Given the description of an element on the screen output the (x, y) to click on. 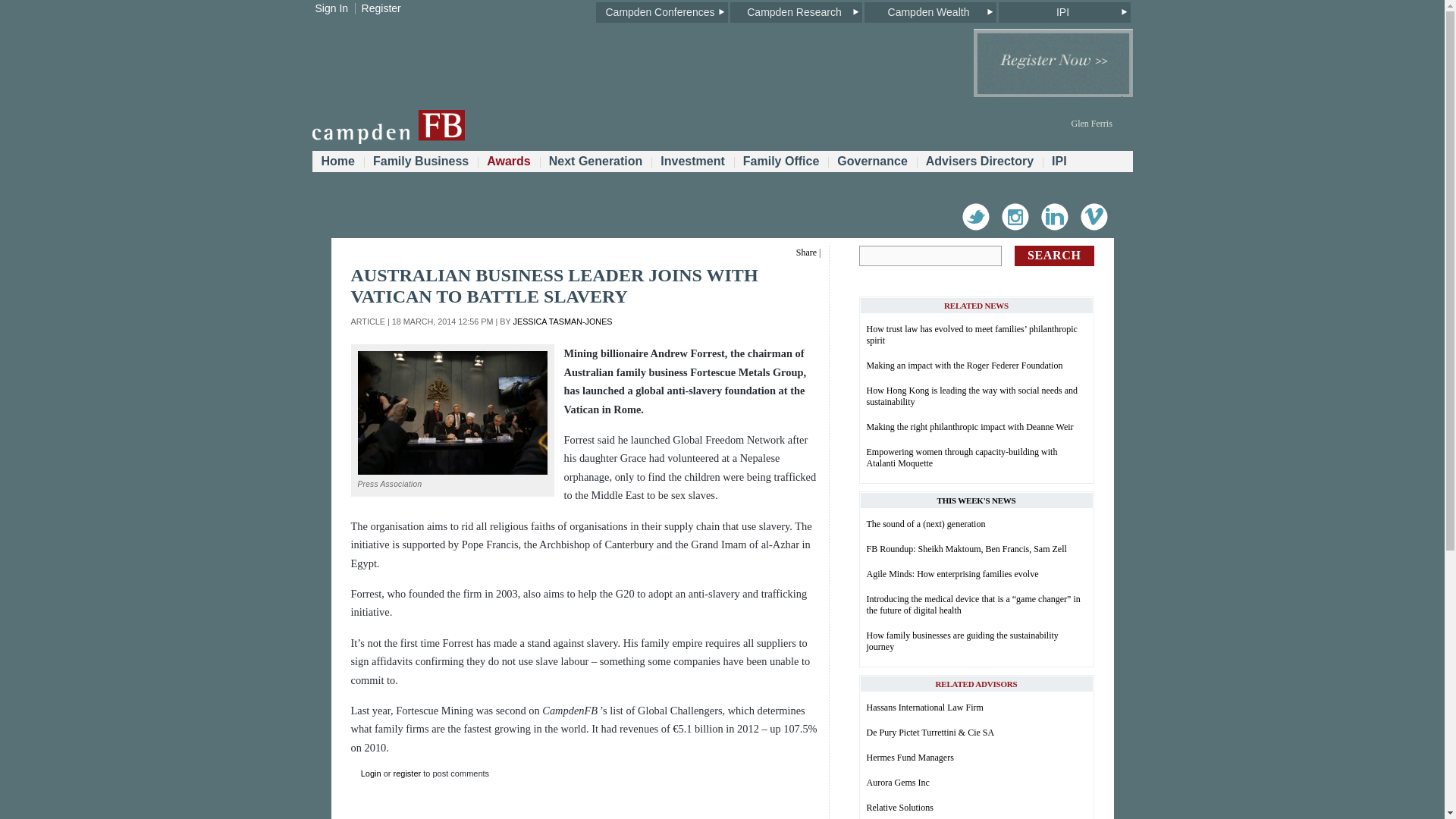
Register (381, 8)
Campden Conferences (661, 12)
Next Generation (596, 160)
Awards (508, 160)
Family Business (420, 160)
search (1054, 255)
Campden Wealth (929, 12)
Governance (871, 160)
IPI (1063, 12)
Home (338, 160)
Family Office (780, 160)
Enter the terms you wish to search for. (930, 255)
Investment (691, 160)
Campden FB (388, 140)
Sign In (332, 8)
